Given the description of an element on the screen output the (x, y) to click on. 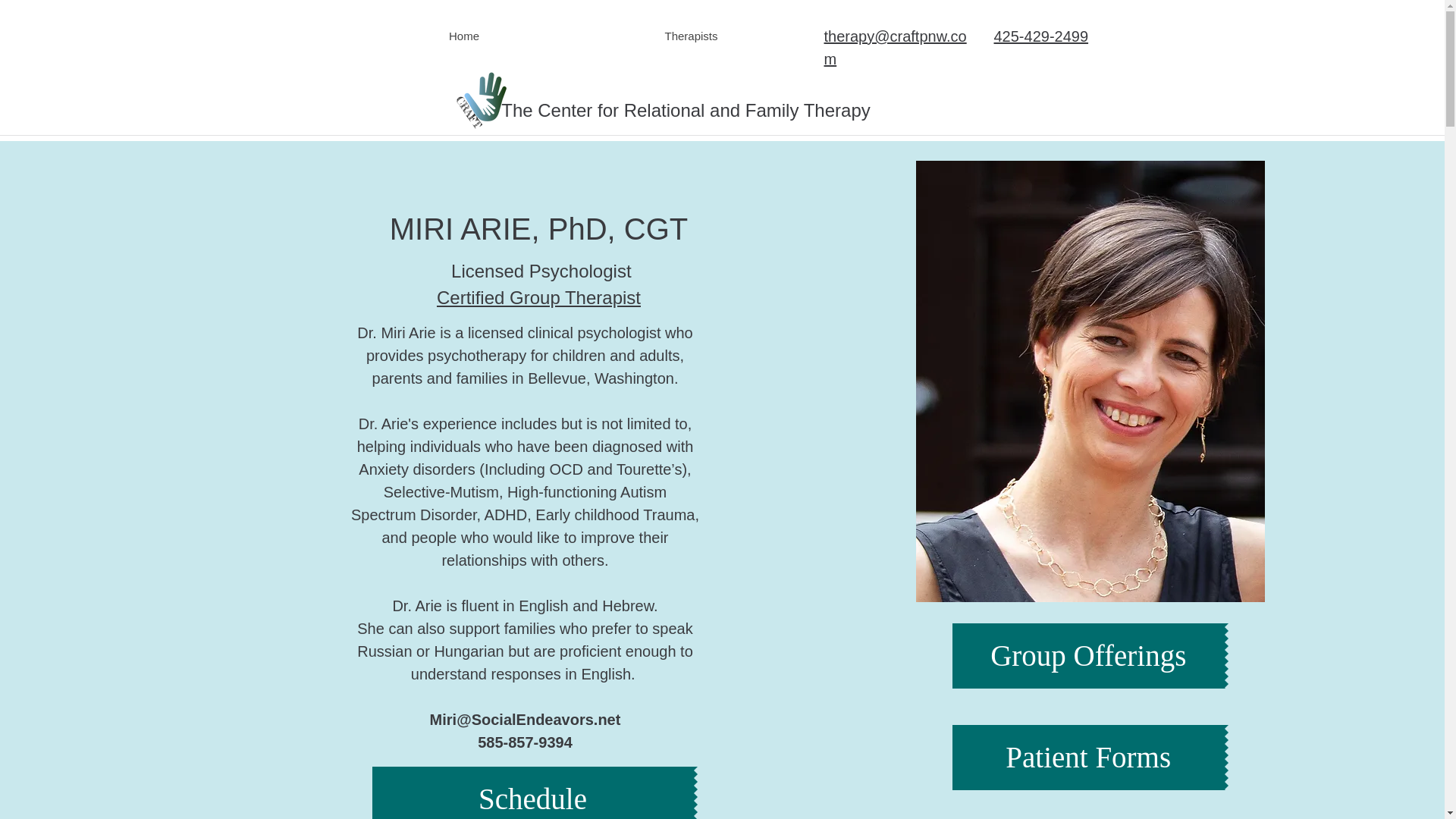
Group Offerings (1088, 655)
Schedule (532, 792)
Patient Forms (1088, 757)
425-429-2499 (1039, 36)
Home (463, 35)
Certified Group Therapist (538, 297)
